Given the description of an element on the screen output the (x, y) to click on. 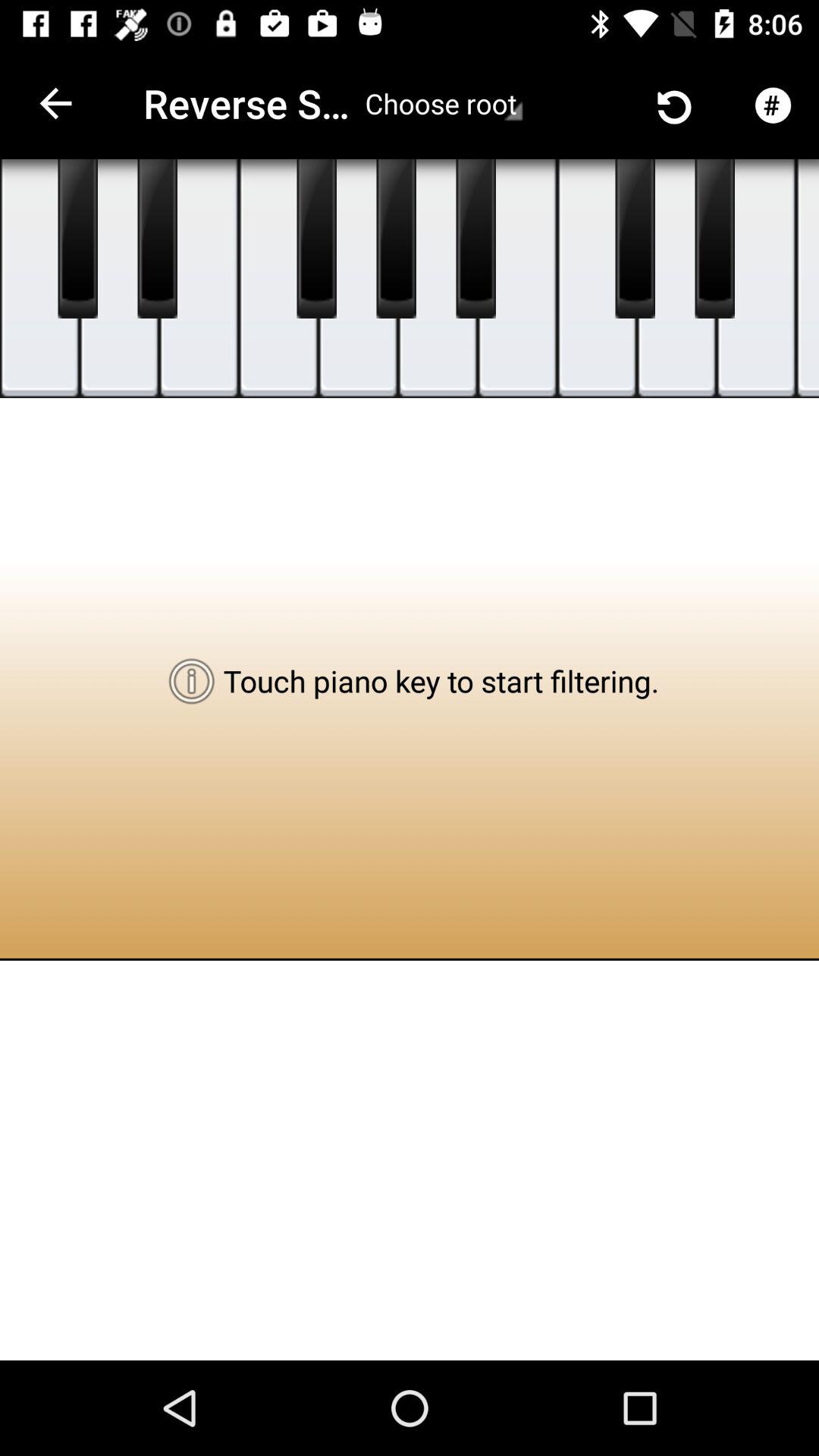
piano key (475, 238)
